Given the description of an element on the screen output the (x, y) to click on. 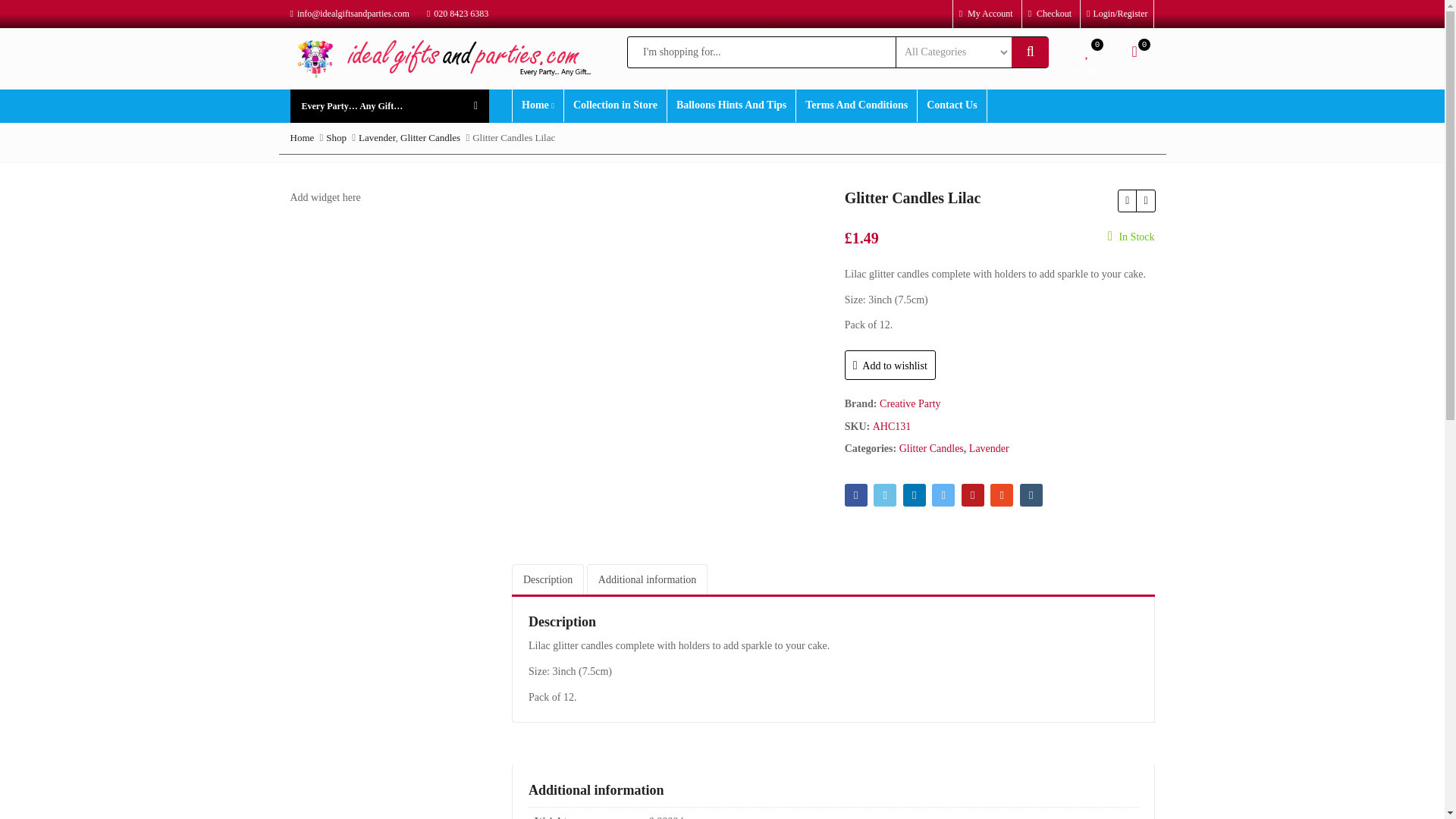
My Account (986, 13)
Share on Telegram (943, 495)
Checkout (1049, 13)
Go to Home Page (301, 137)
Share on LinkedIn (914, 495)
Share on Pinterest (972, 495)
Share on Stumbleupon (1001, 495)
Share on Facebook (855, 495)
Share on Tumblr (1031, 495)
Share on Twitter (884, 495)
